Given the description of an element on the screen output the (x, y) to click on. 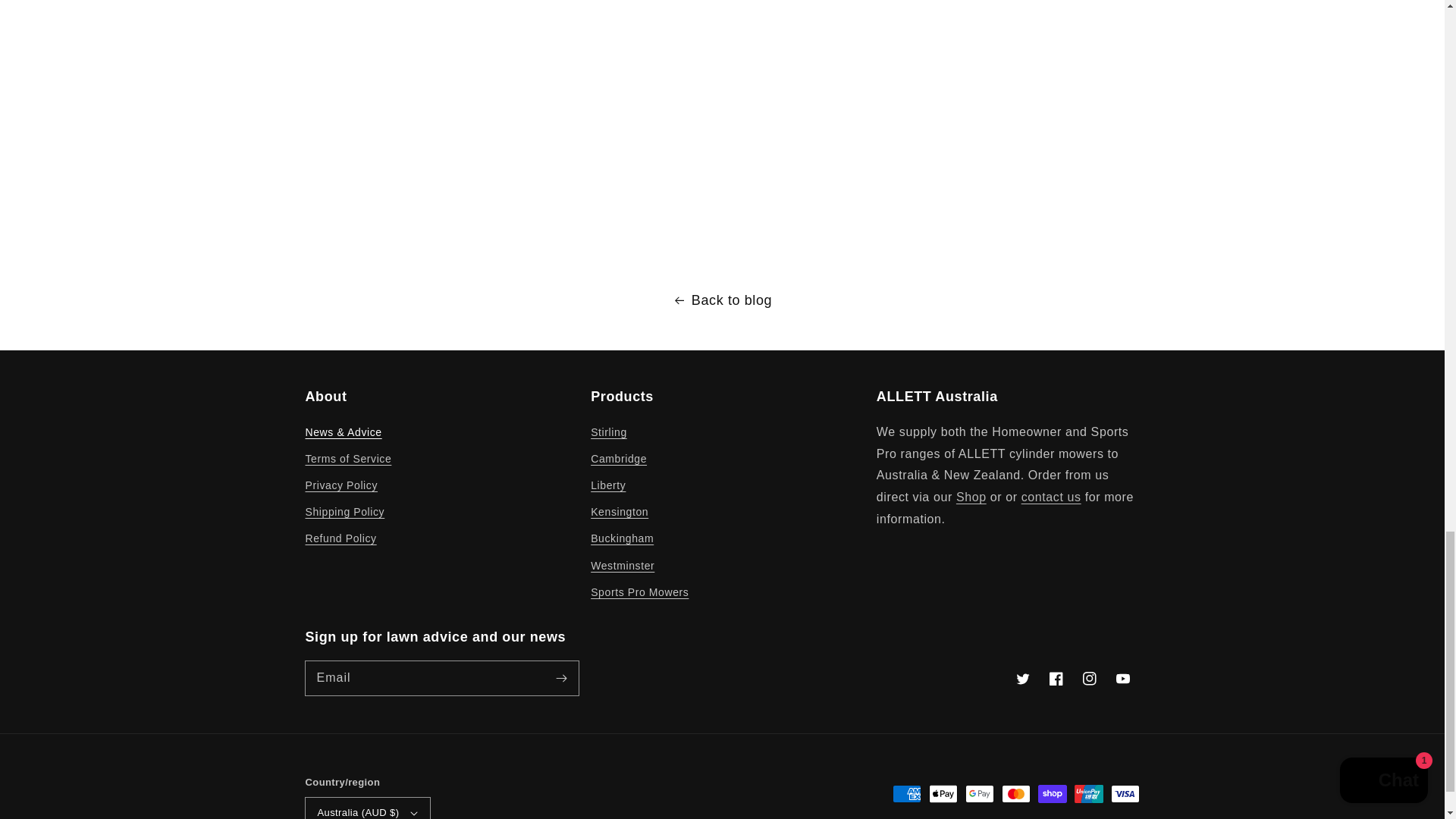
Contact (1051, 496)
All products (971, 496)
